Given the description of an element on the screen output the (x, y) to click on. 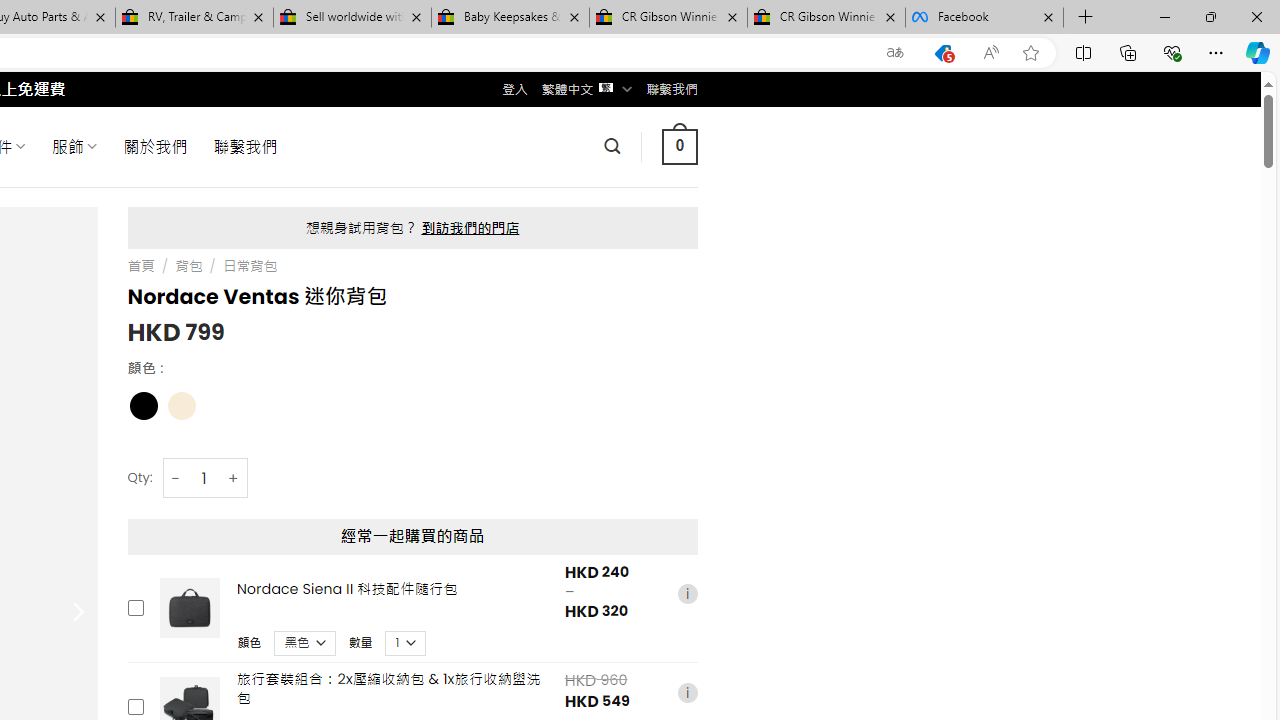
RV, Trailer & Camper Steps & Ladders for sale | eBay (194, 17)
